Given the description of an element on the screen output the (x, y) to click on. 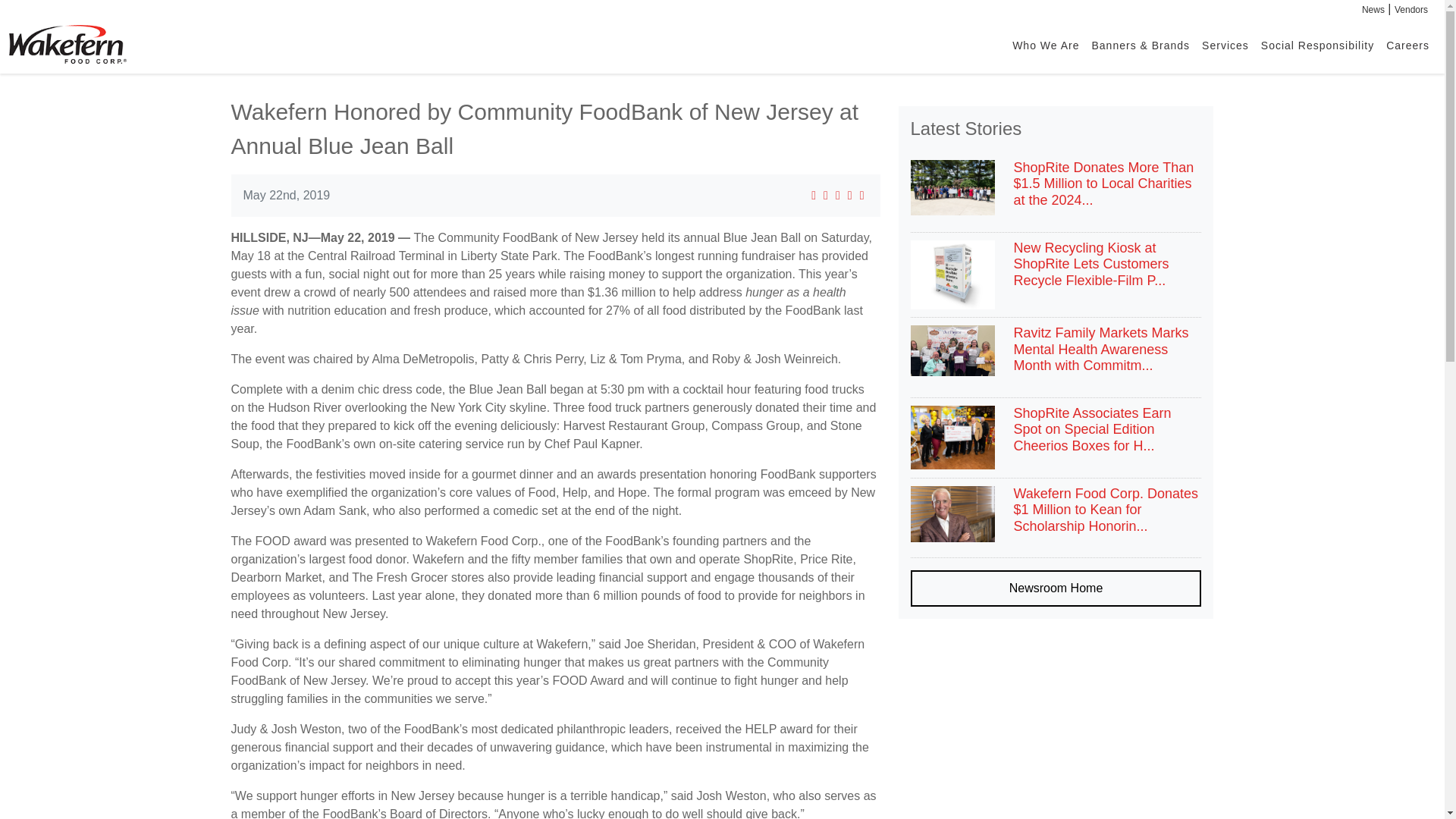
Who We Are (1045, 44)
Vendors (1411, 9)
Newsroom Home (1055, 588)
Social Responsibility (1317, 44)
Services (1225, 44)
News (1372, 9)
Careers (1407, 44)
